Given the description of an element on the screen output the (x, y) to click on. 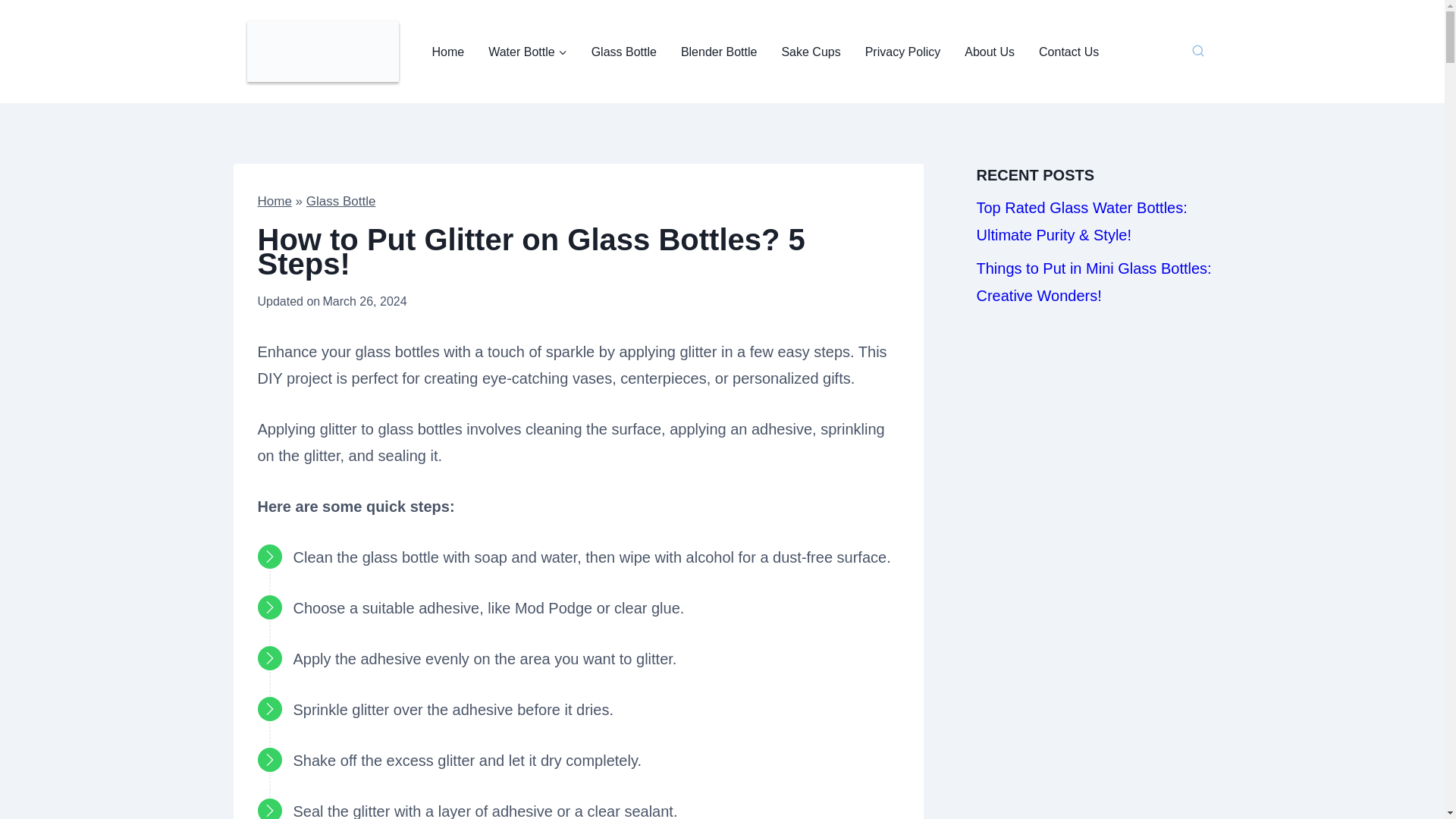
About Us (989, 51)
Blender Bottle (719, 51)
Sake Cups (809, 51)
Glass Bottle (623, 51)
Home (448, 51)
Contact Us (1068, 51)
Home (274, 201)
Privacy Policy (903, 51)
Water Bottle (527, 51)
Glass Bottle (340, 201)
